Given the description of an element on the screen output the (x, y) to click on. 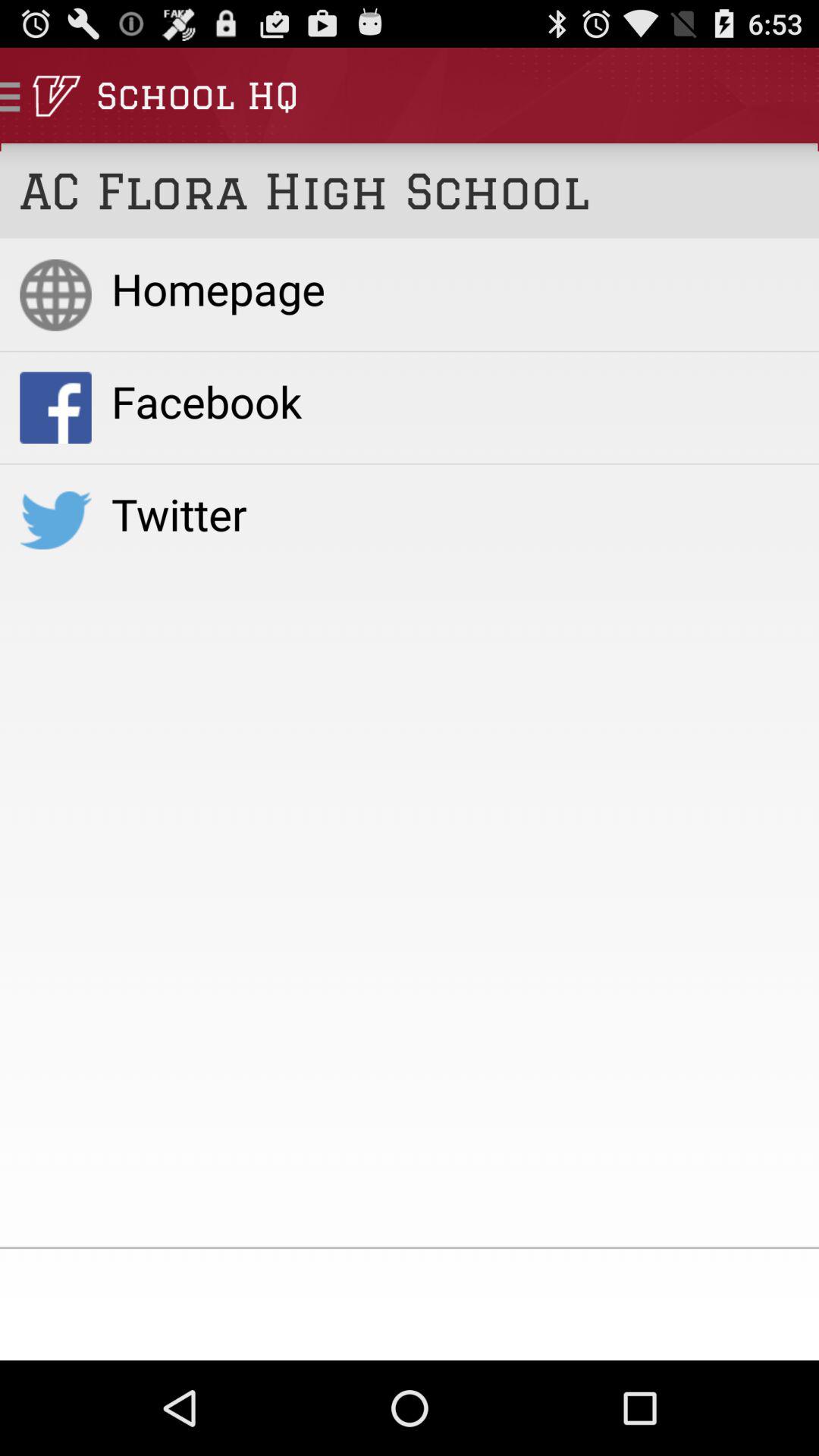
launch the app at the center (455, 513)
